Given the description of an element on the screen output the (x, y) to click on. 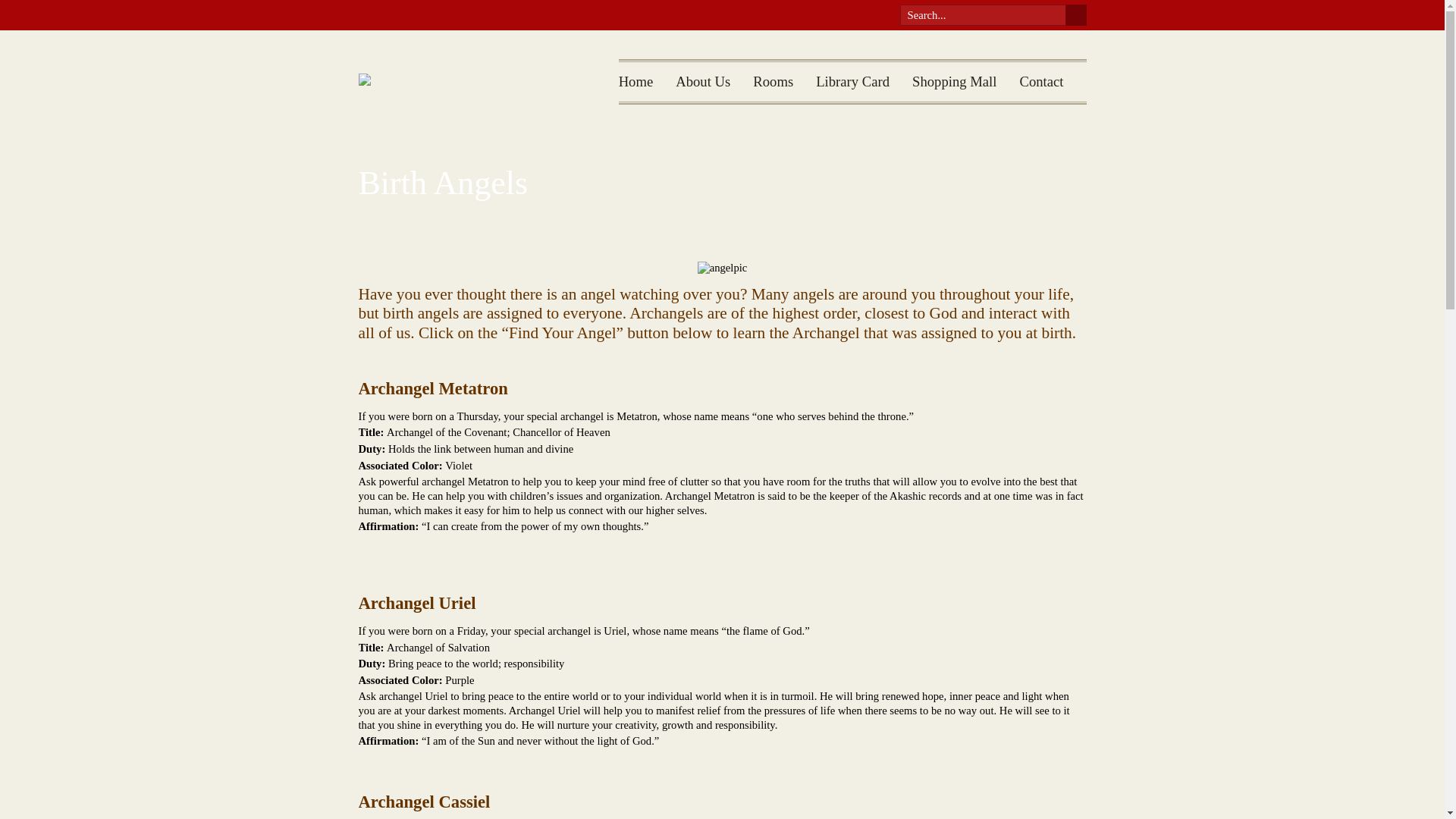
Youtube (873, 14)
Twitter (845, 14)
Youtube (772, 81)
Twitter (873, 14)
Search... (845, 14)
Facebook (981, 14)
